Given the description of an element on the screen output the (x, y) to click on. 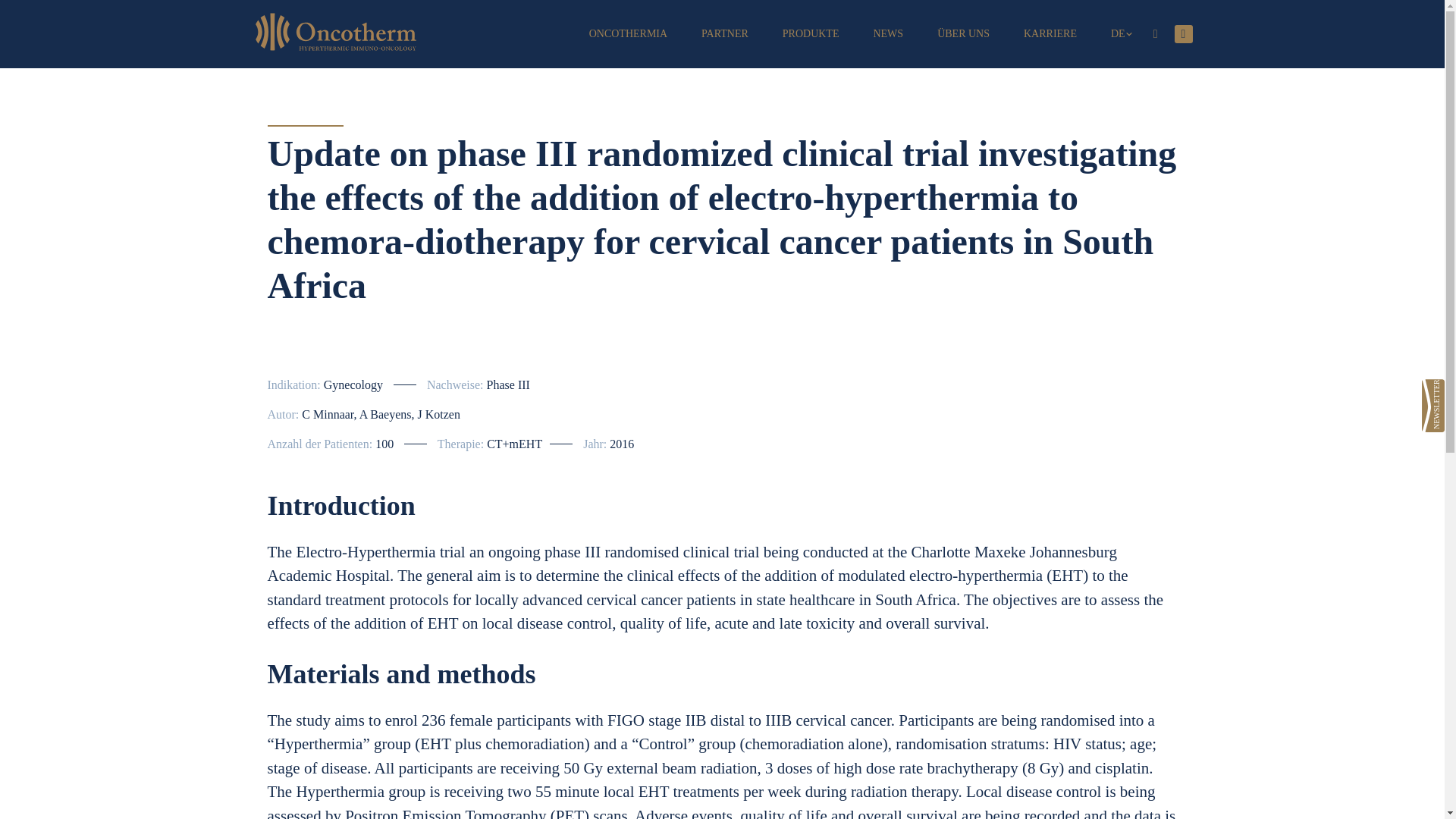
ONCOTHERMIA (627, 33)
